Given the description of an element on the screen output the (x, y) to click on. 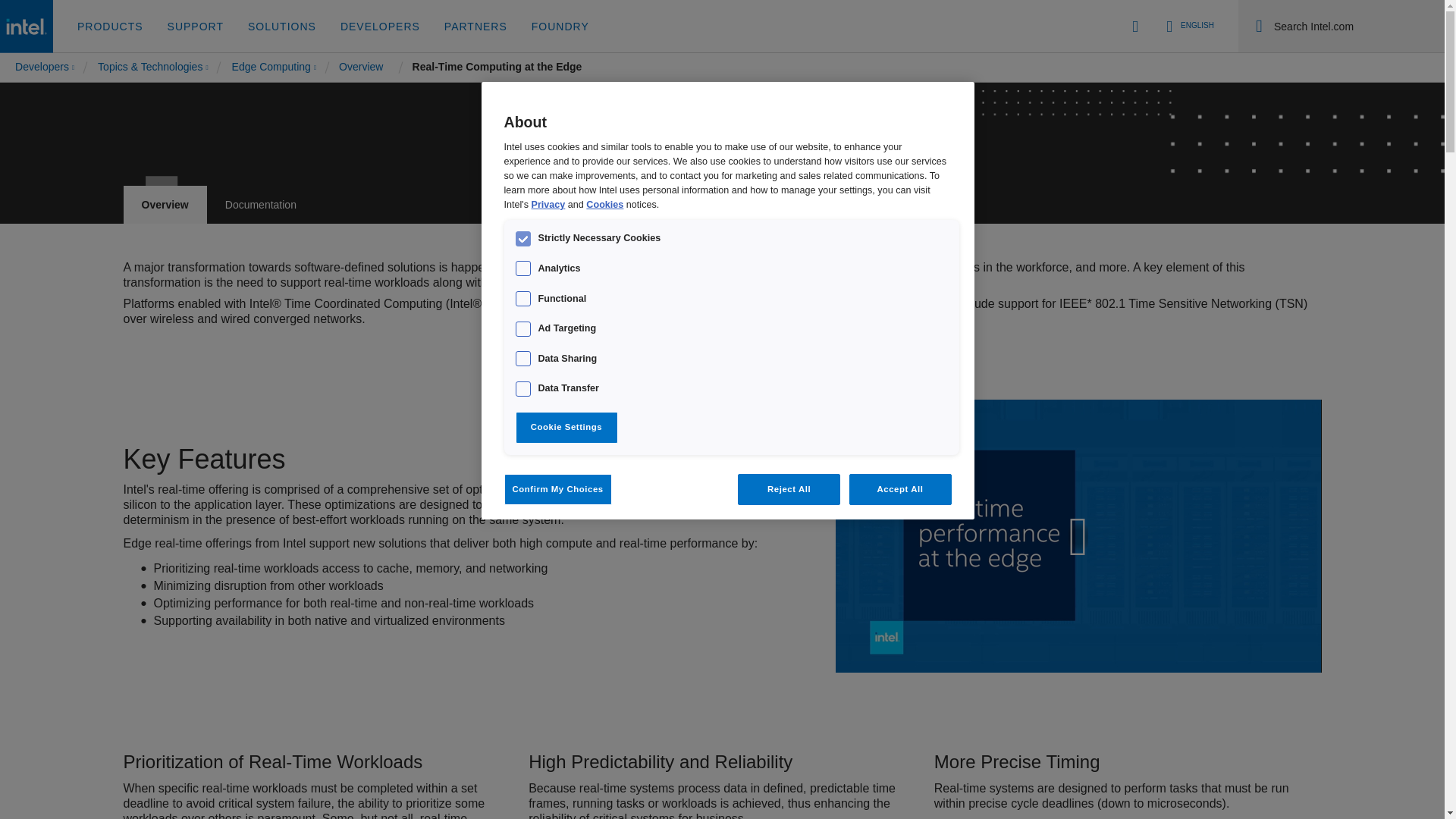
PRODUCTS (110, 26)
Language Selector (721, 204)
Play Video (1187, 26)
